Given the description of an element on the screen output the (x, y) to click on. 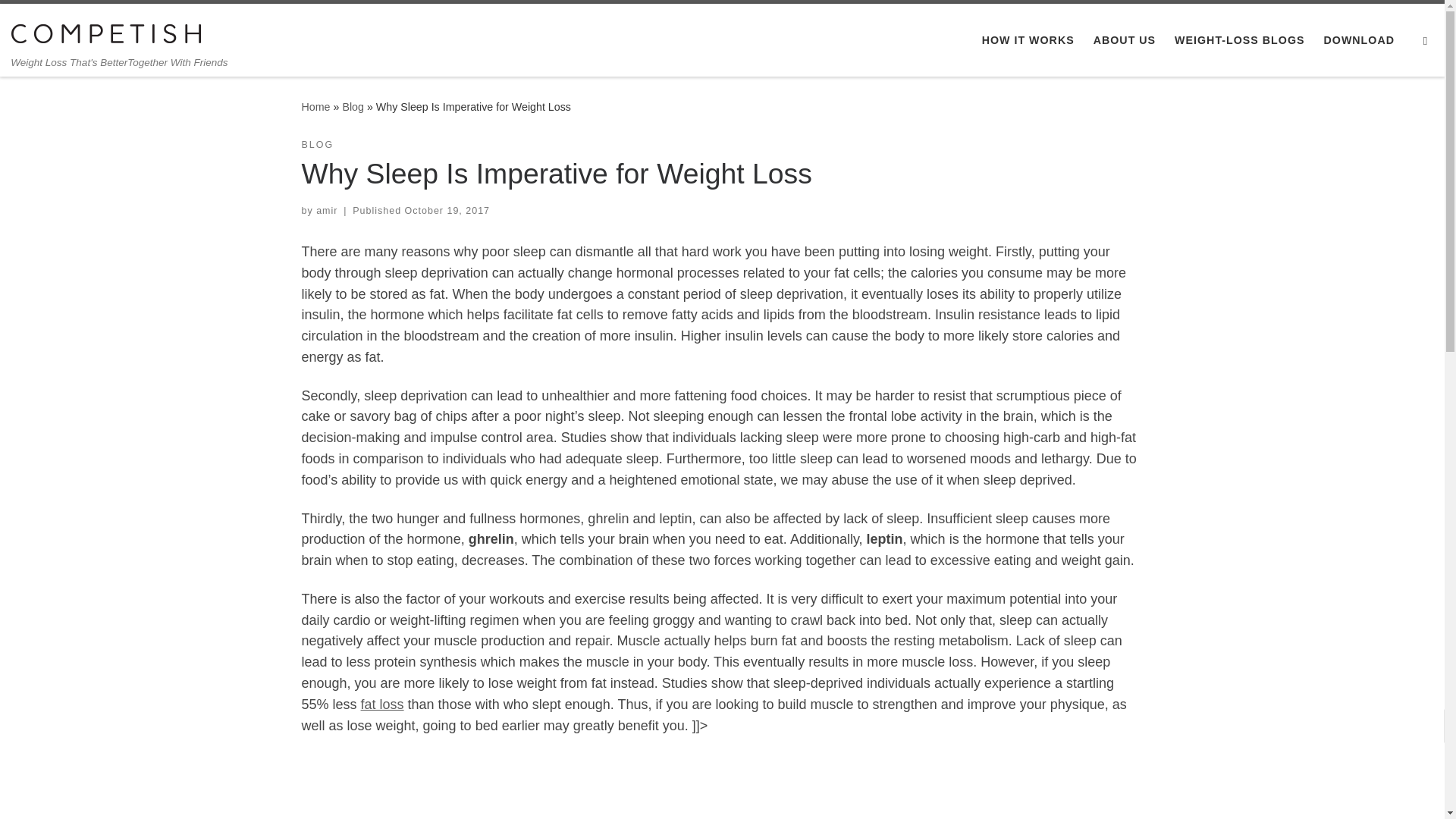
fat loss (382, 703)
View all posts by amir (326, 210)
amir (326, 210)
Skip to content (60, 20)
WEIGHT-LOSS BLOGS (1239, 40)
Blog (353, 106)
October 19, 2017 (446, 210)
BLOG (317, 145)
ABOUT US (1123, 40)
Home (315, 106)
DOWNLOAD (1359, 40)
8:35 am (446, 210)
Competish - New Year Weight Loss Competitions and Challenges (315, 106)
HOW IT WORKS (1027, 40)
View all posts in Blog (317, 145)
